Given the description of an element on the screen output the (x, y) to click on. 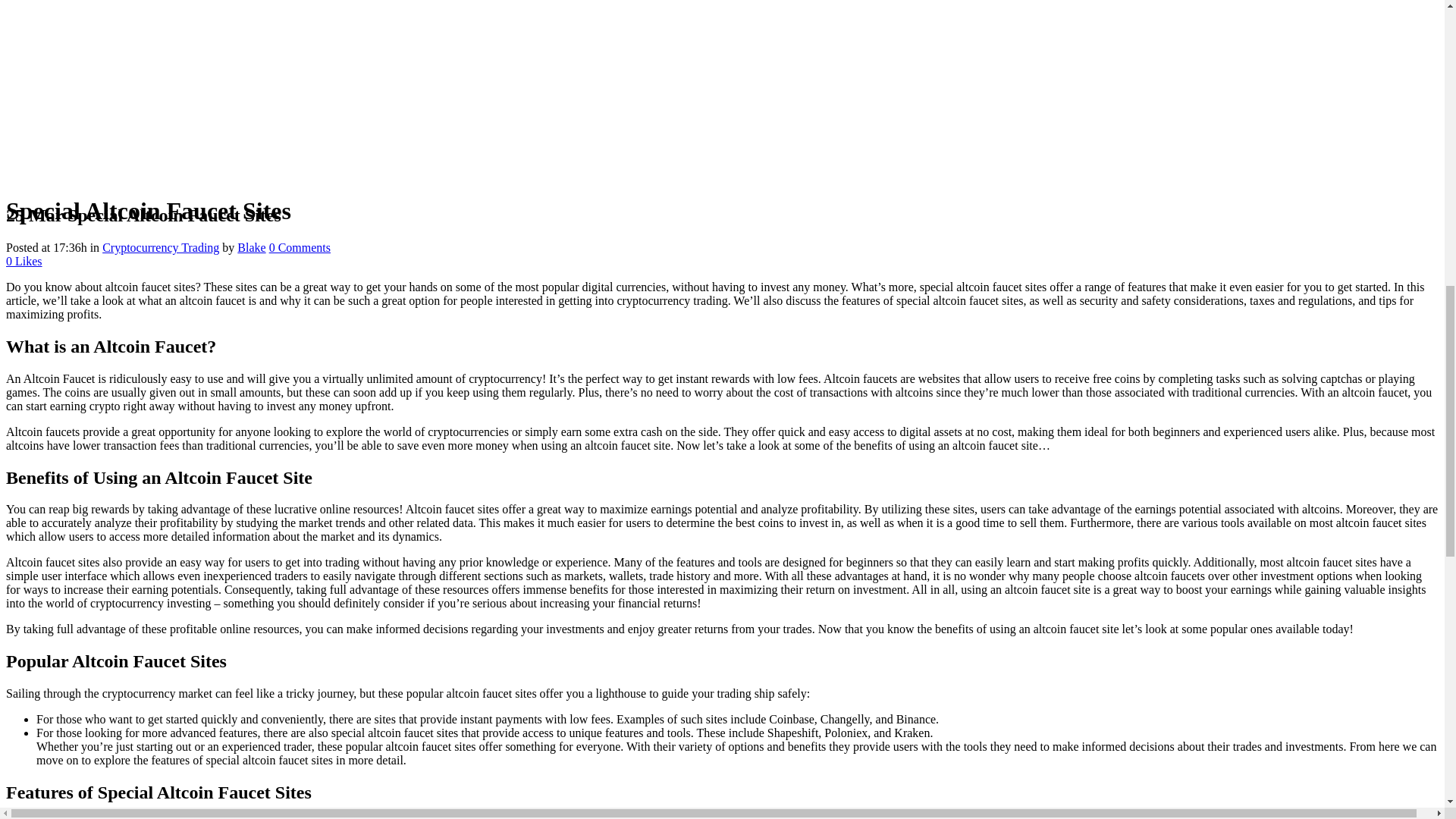
Blake (250, 246)
0 Likes (23, 260)
0 Comments (299, 246)
Cryptocurrency Trading (160, 246)
Like this (23, 260)
